Given the description of an element on the screen output the (x, y) to click on. 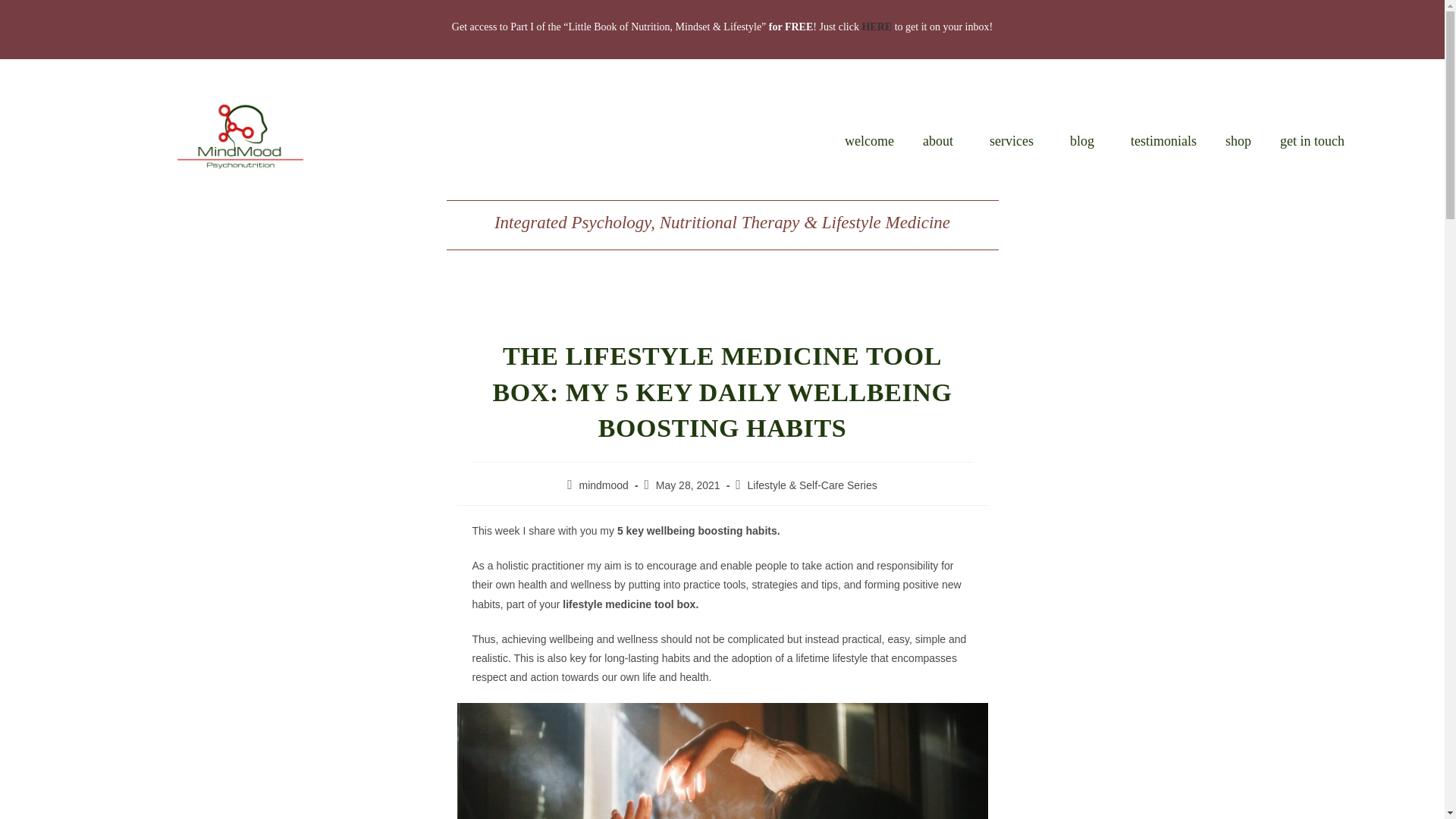
about (941, 140)
Posts by mindmood (603, 485)
blog (1085, 140)
get in touch (1311, 140)
mindmood (603, 485)
welcome (868, 140)
HERE (876, 26)
shop (1238, 140)
services (1015, 140)
testimonials (1163, 140)
